Given the description of an element on the screen output the (x, y) to click on. 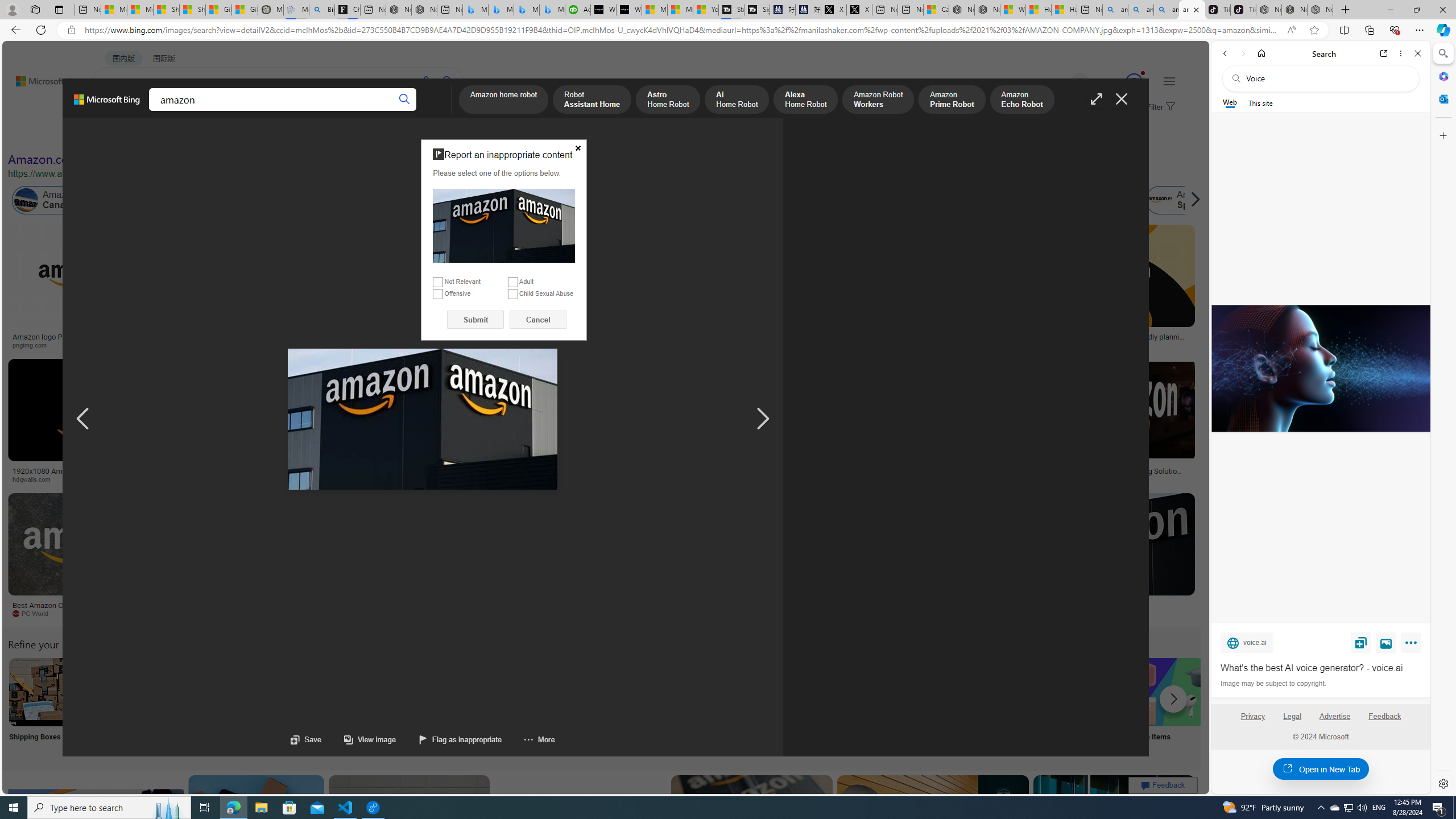
Amazon home robot (503, 100)
Sale Items (1169, 706)
voice.ai (1247, 642)
Long Island Press (628, 479)
MAPS (397, 111)
Jobs Near Me (342, 706)
Eugene (1063, 81)
Amazon Canada Online (25, 200)
